Given the description of an element on the screen output the (x, y) to click on. 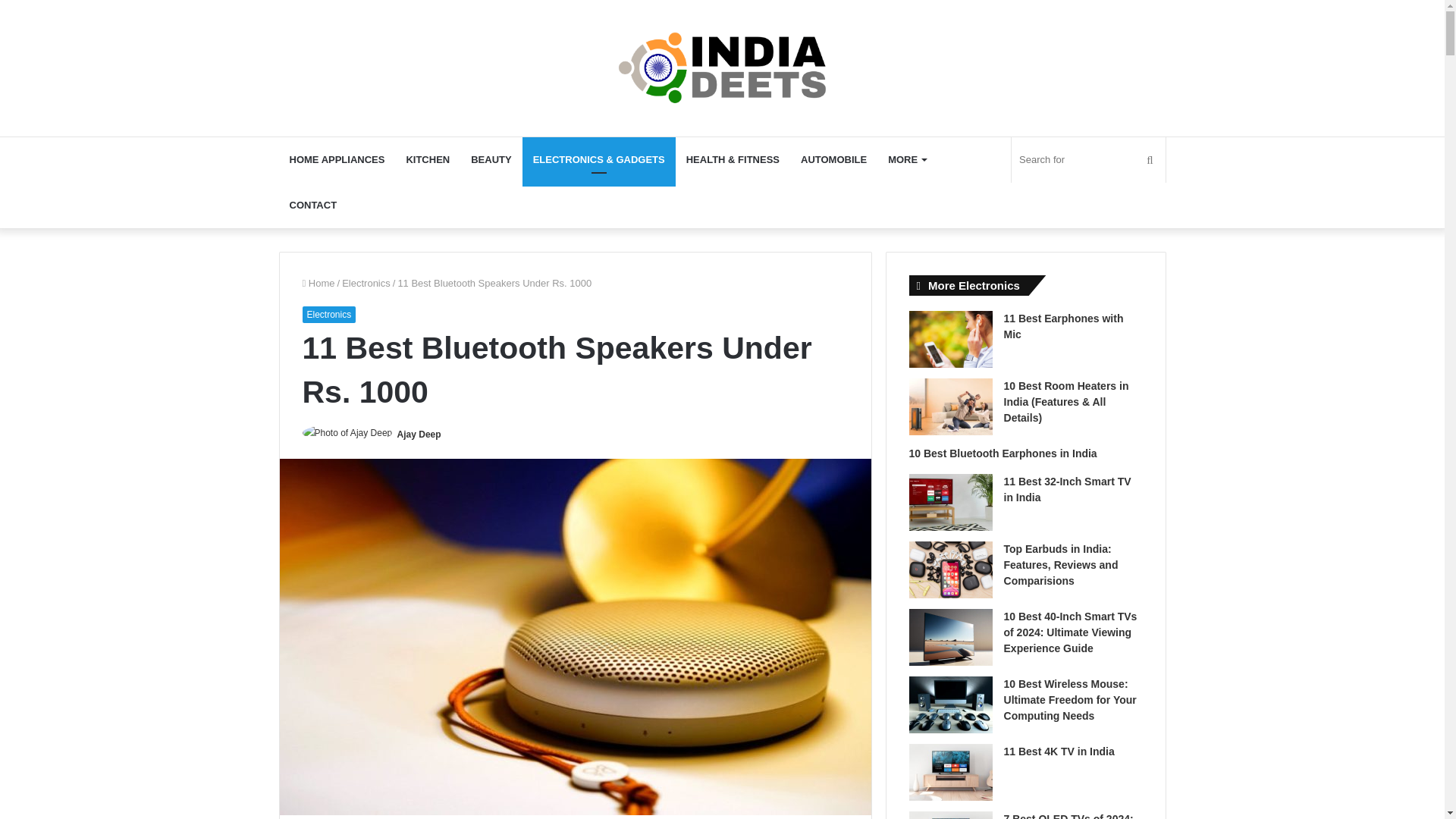
Electronics (328, 314)
Ajay Deep (419, 434)
HOME APPLIANCES (337, 159)
India Deets (721, 68)
KITCHEN (427, 159)
Electronics (366, 283)
BEAUTY (490, 159)
MORE (906, 159)
Home (317, 283)
AUTOMOBILE (833, 159)
CONTACT (313, 205)
Ajay Deep (419, 434)
Search for (1087, 159)
